Given the description of an element on the screen output the (x, y) to click on. 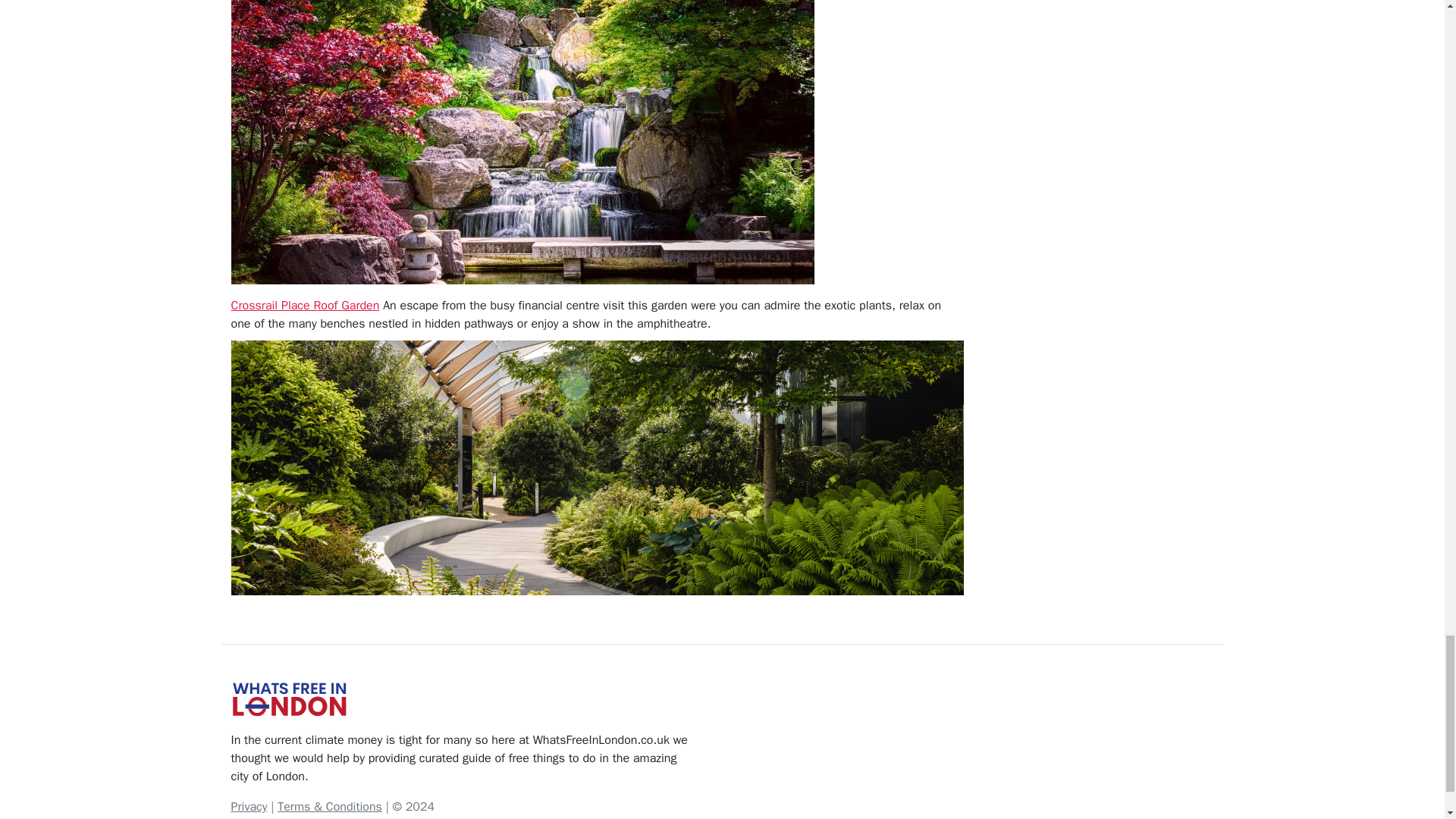
Privacy (248, 806)
Crossrail Place Roof Garden (304, 305)
Crossrail Place Roof Garden (304, 305)
